Given the description of an element on the screen output the (x, y) to click on. 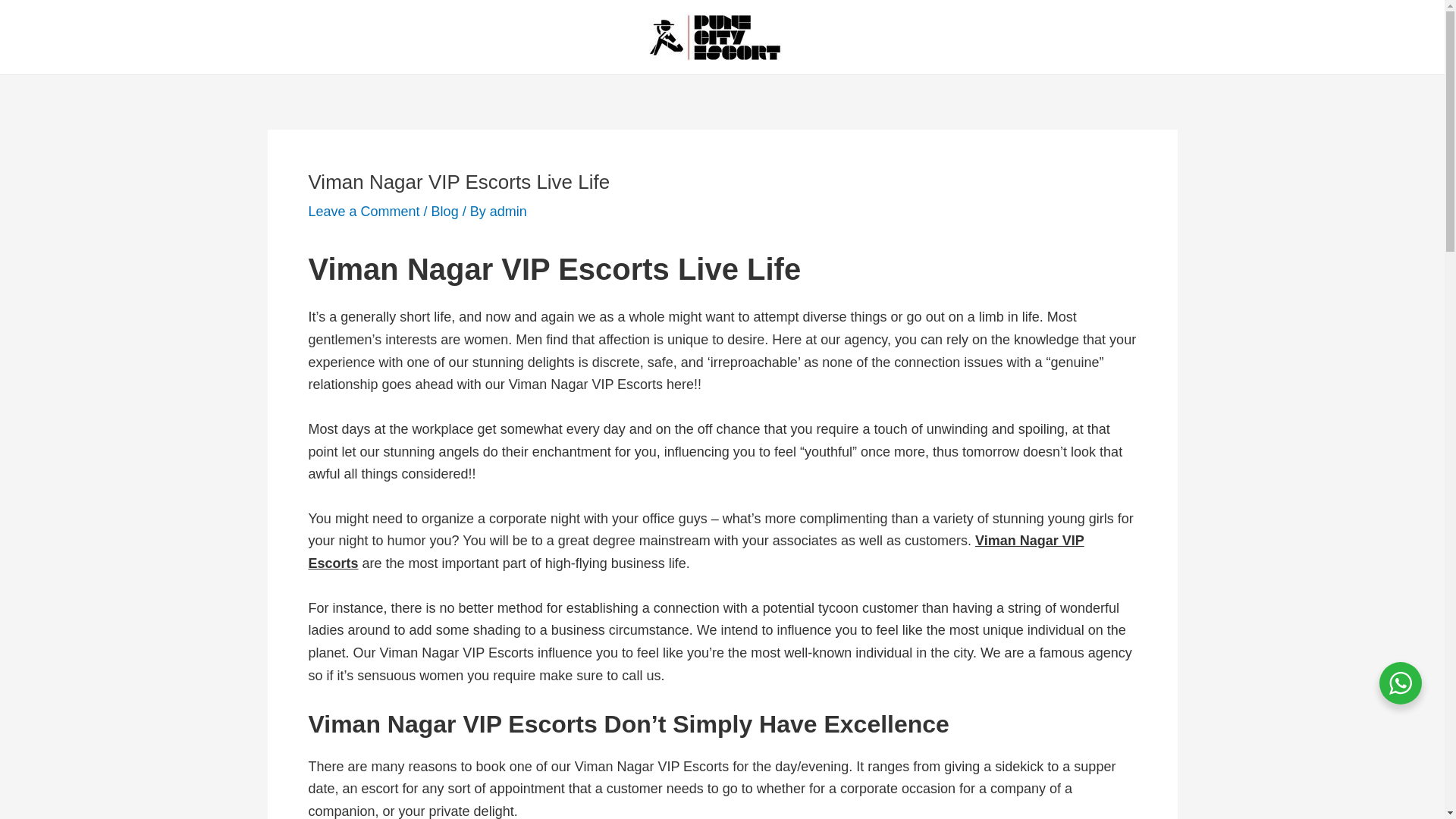
admin (508, 211)
Leave a Comment (363, 211)
View all posts by admin (508, 211)
Blog (444, 211)
Viman Nagar VIP Escorts (695, 551)
